Given the description of an element on the screen output the (x, y) to click on. 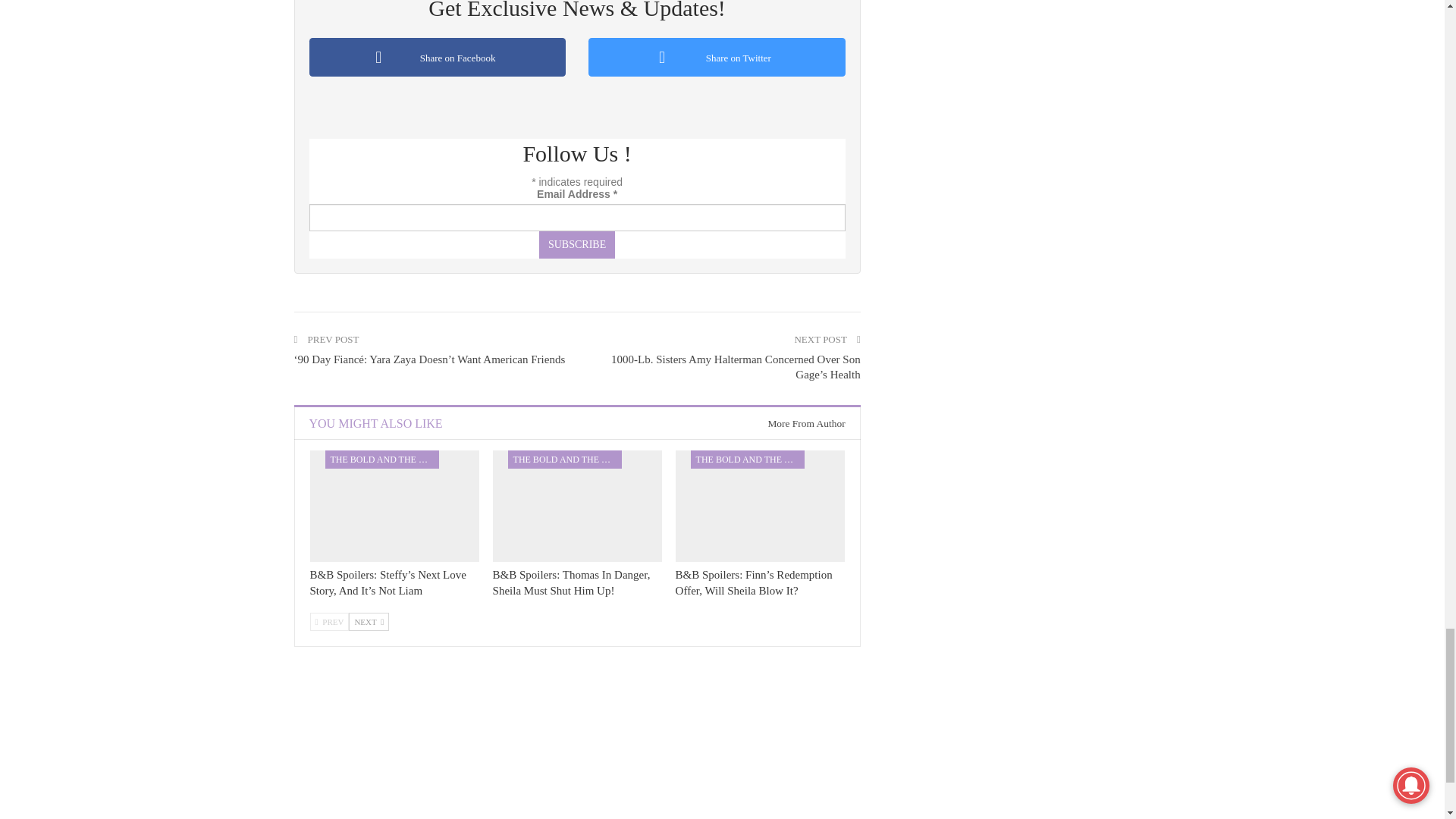
Next (368, 621)
Subscribe (576, 244)
Previous (328, 621)
